Given the description of an element on the screen output the (x, y) to click on. 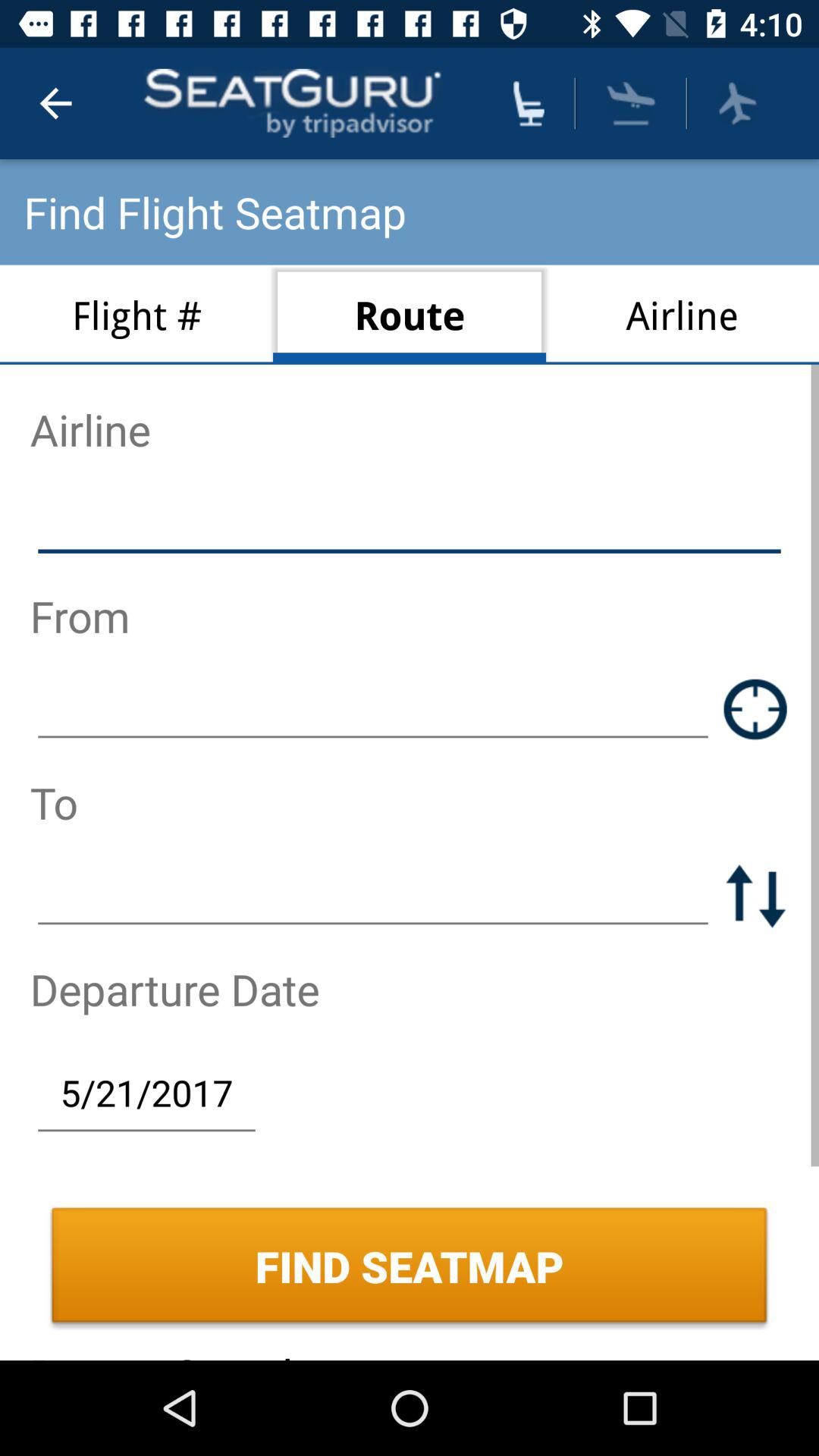
launch the icon above the find flight seatmap item (55, 103)
